Given the description of an element on the screen output the (x, y) to click on. 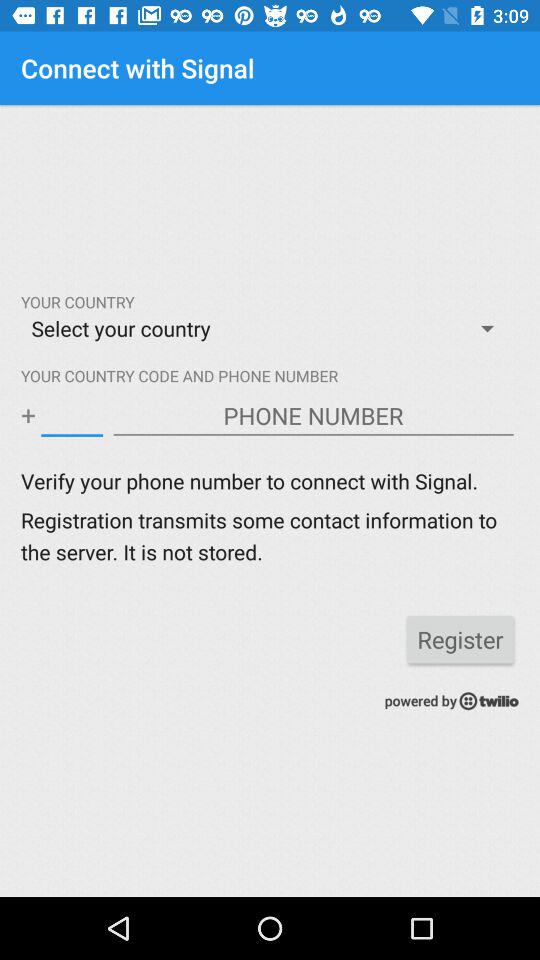
enter country code (72, 415)
